Given the description of an element on the screen output the (x, y) to click on. 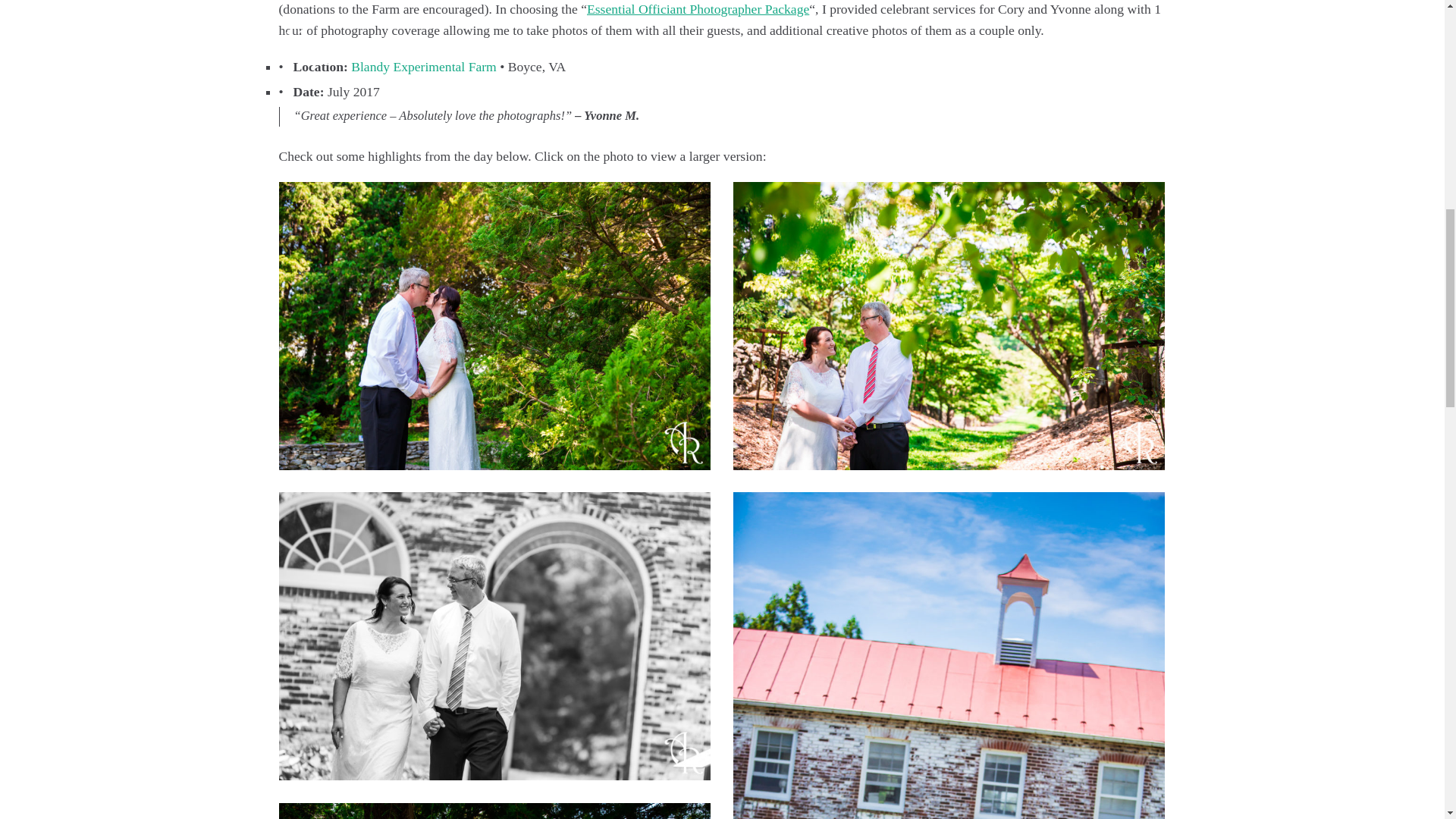
Blandy Experimental Farm (423, 66)
Essential Officiant Photographer Package (697, 8)
